Given the description of an element on the screen output the (x, y) to click on. 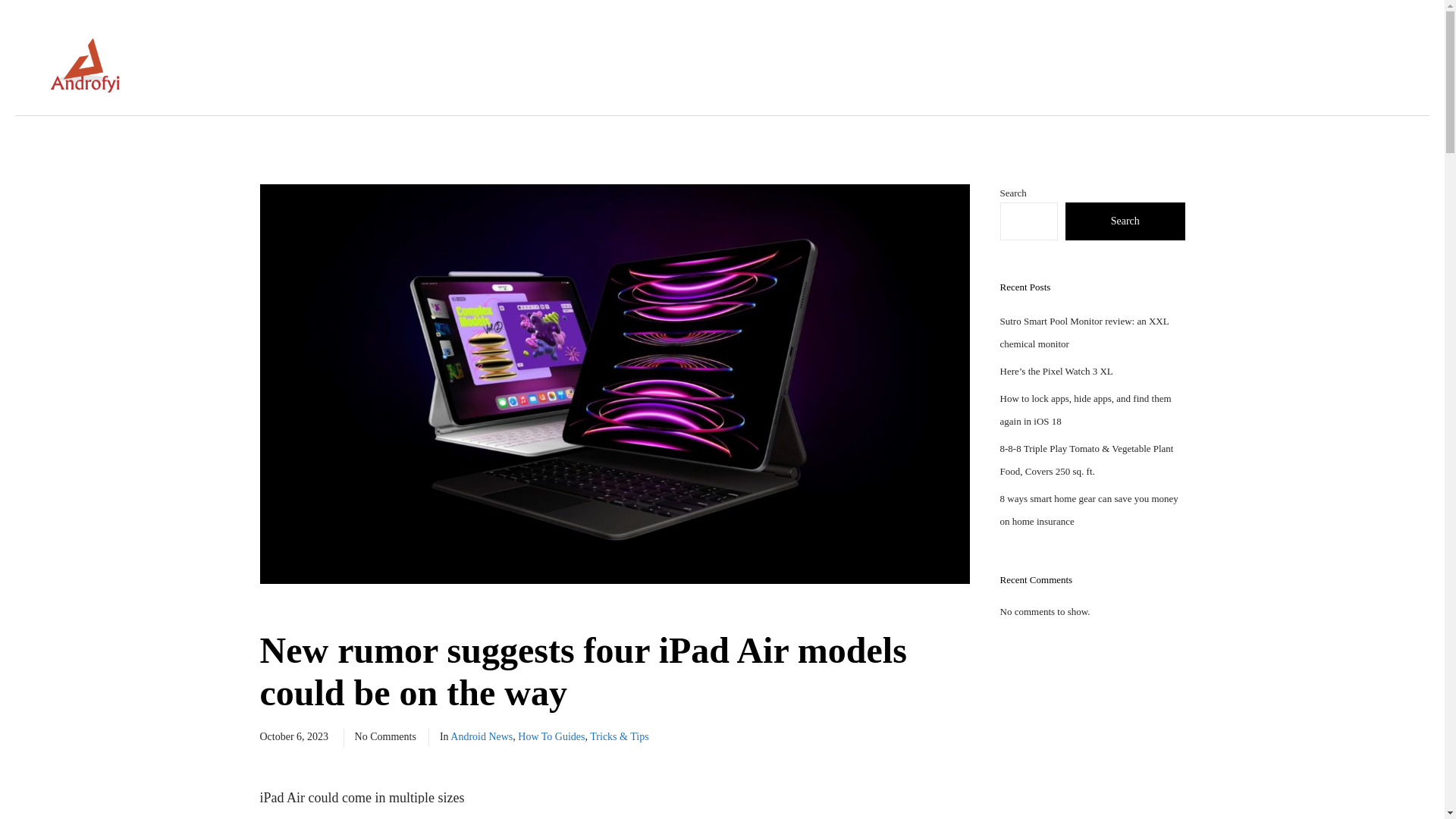
How To Guides (551, 736)
Android News (480, 736)
iPad Air could come in multiple sizes (614, 797)
